Given the description of an element on the screen output the (x, y) to click on. 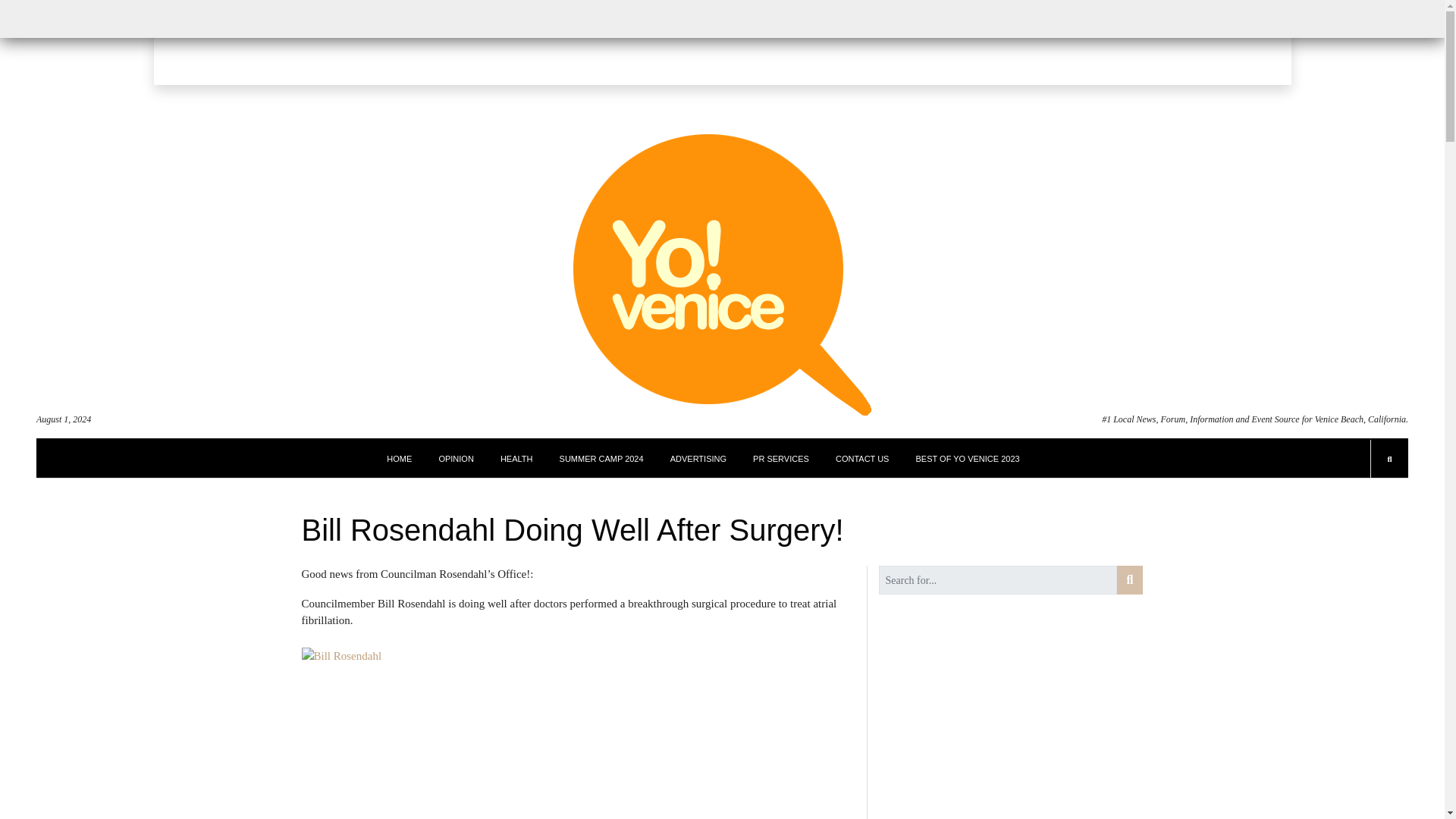
Bill Rosendahl by www.YoVenice.com, on Flickr (578, 733)
OPINION (455, 458)
PR SERVICES (780, 458)
SUMMER CAMP 2024 (601, 458)
ADVERTISING (697, 458)
BEST OF YO VENICE 2023 (967, 458)
CONTACT US (862, 458)
